Given the description of an element on the screen output the (x, y) to click on. 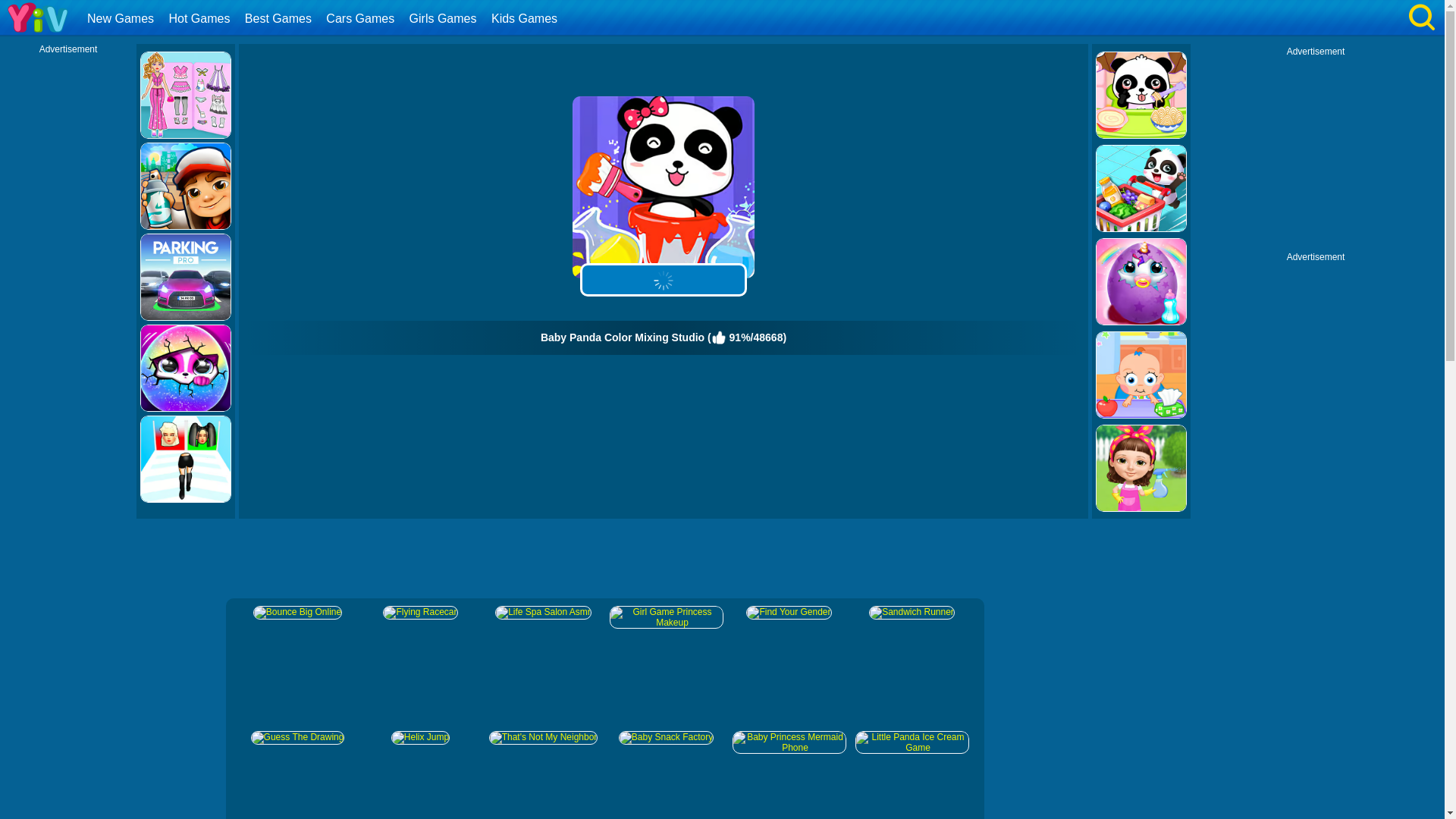
Hot Games (200, 18)
Best Games (279, 18)
Kids Games (525, 18)
New Games (121, 18)
Girls Games (445, 18)
Cars Games (361, 18)
